Given the description of an element on the screen output the (x, y) to click on. 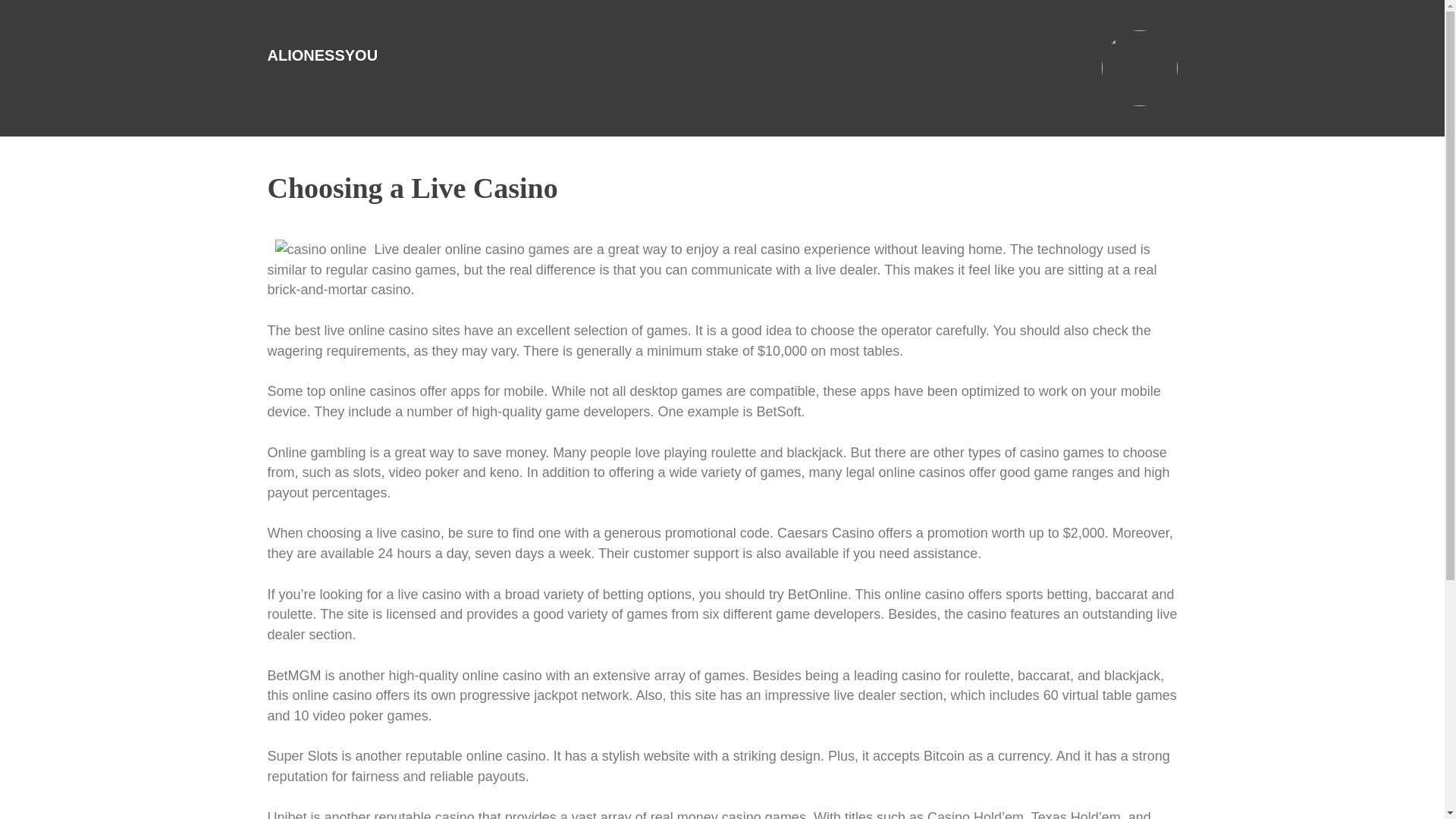
ALIONESSYOU (321, 54)
alionessyou (321, 54)
